Given the description of an element on the screen output the (x, y) to click on. 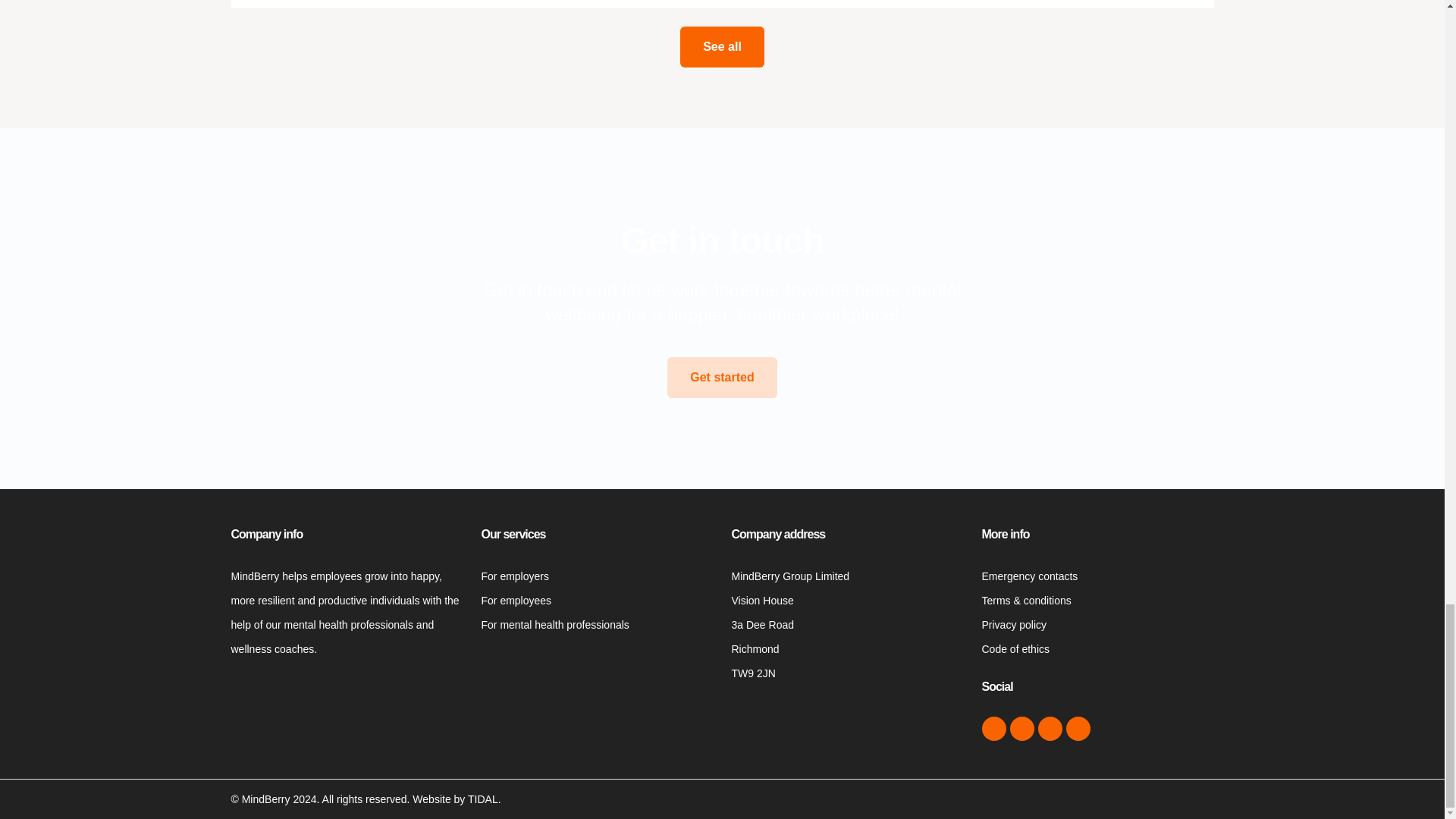
Get started (721, 377)
For employees (515, 600)
For employers (514, 576)
See all (721, 46)
For mental health professionals (554, 624)
Emergency contacts (1029, 576)
Privacy policy (1013, 624)
